Given the description of an element on the screen output the (x, y) to click on. 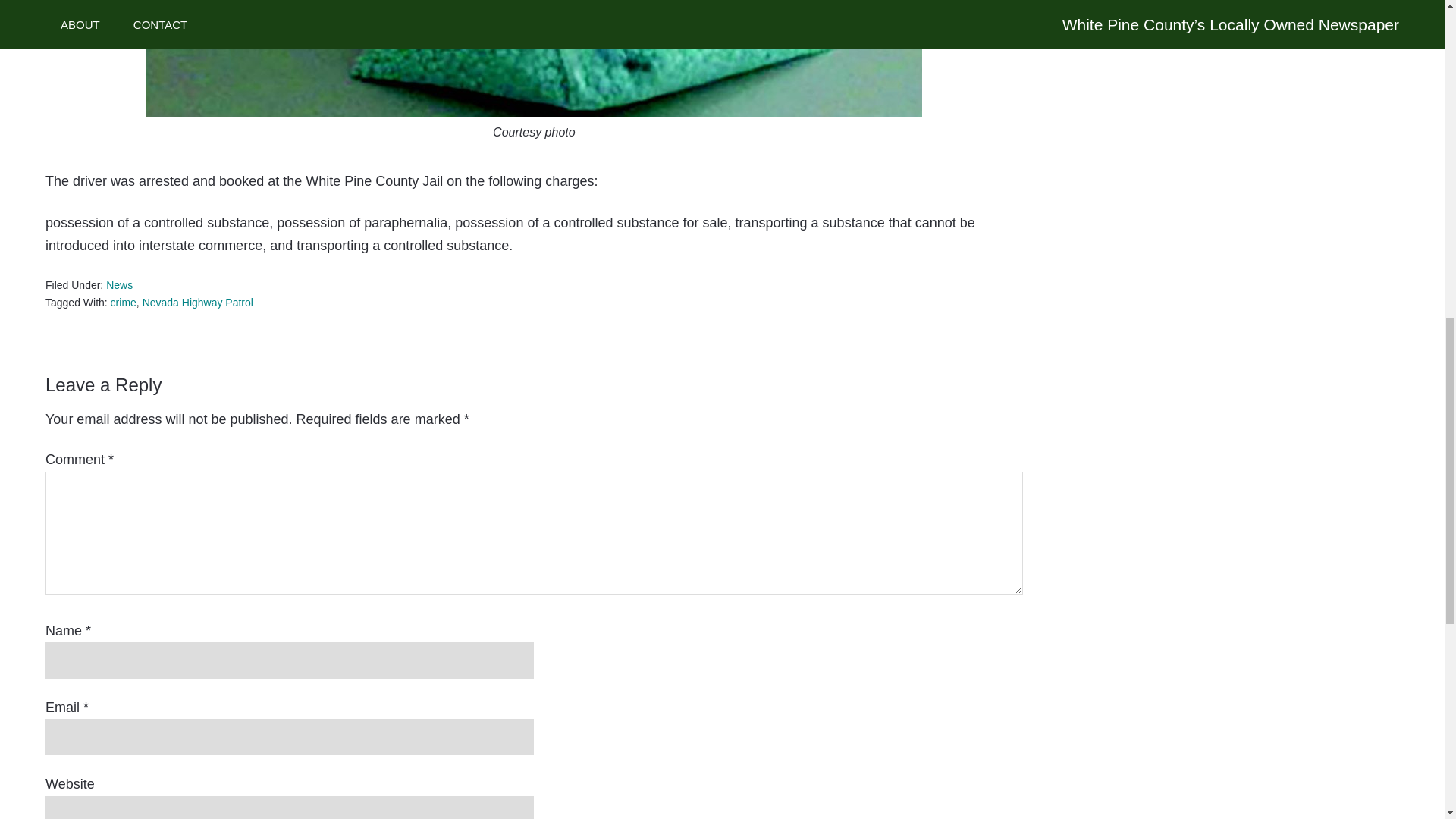
News (119, 285)
crime (123, 302)
Nevada Highway Patrol (197, 302)
